Given the description of an element on the screen output the (x, y) to click on. 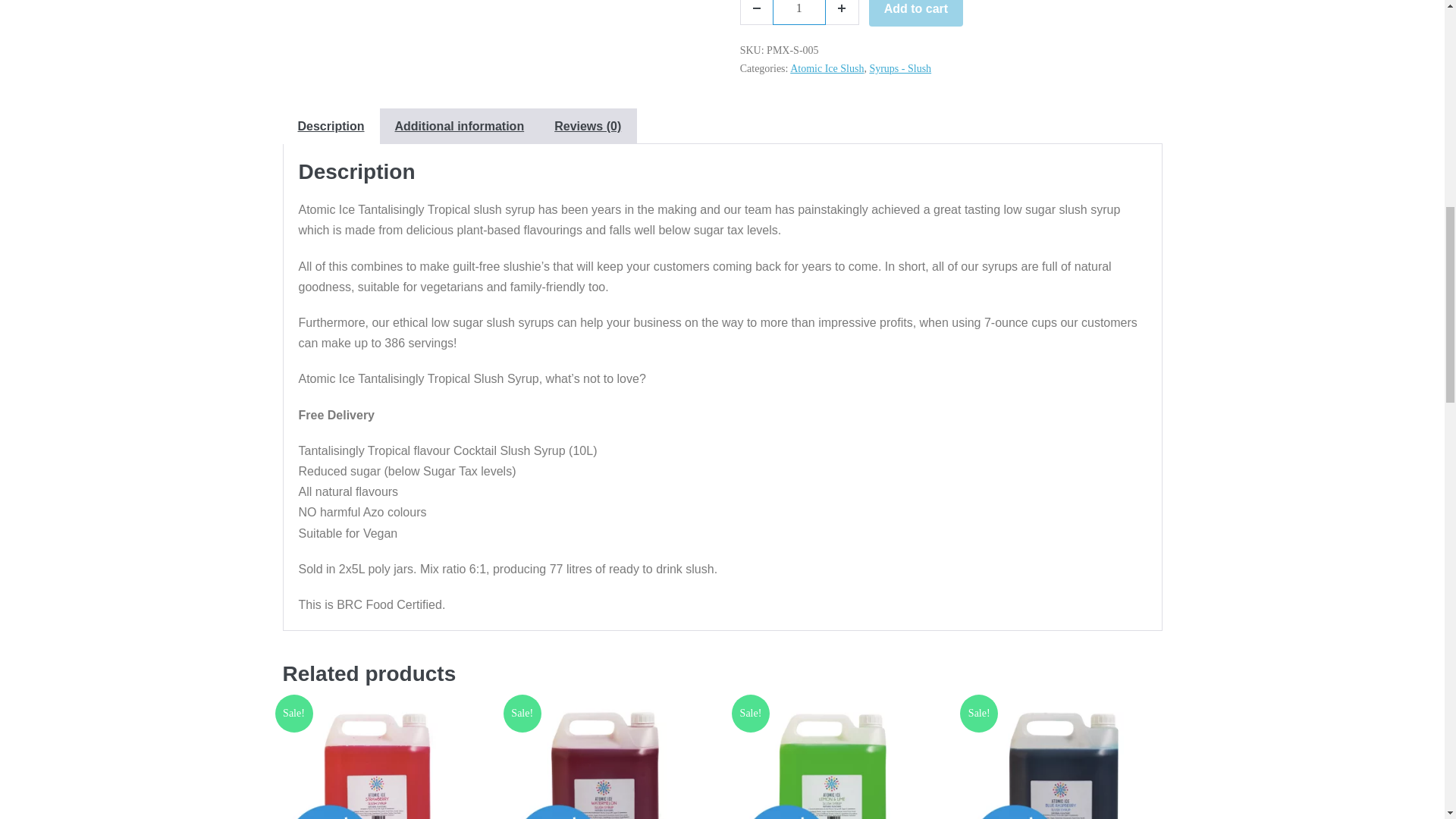
Atomic Ice Slush (826, 68)
Add to cart (915, 13)
1 (799, 12)
Syrups - Slush (900, 68)
